Given the description of an element on the screen output the (x, y) to click on. 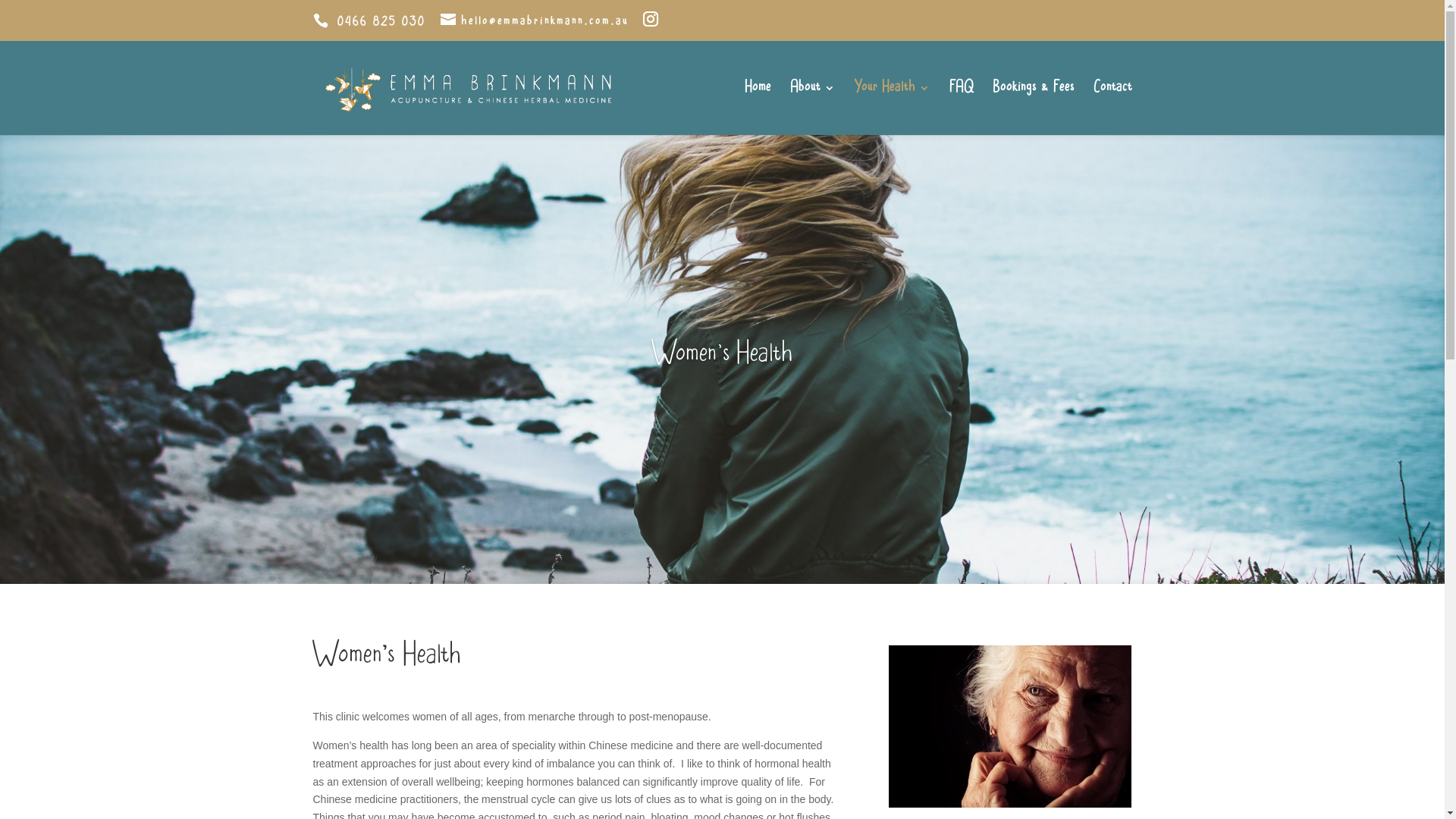
FAQ Element type: text (961, 108)
About Element type: text (812, 108)
hello@emmabrinkmann.com.au Element type: text (533, 21)
Bookings & Fees Element type: text (1032, 108)
Your Health Element type: text (891, 108)
Home Element type: text (757, 108)
Contact Element type: text (1112, 108)
